Given the description of an element on the screen output the (x, y) to click on. 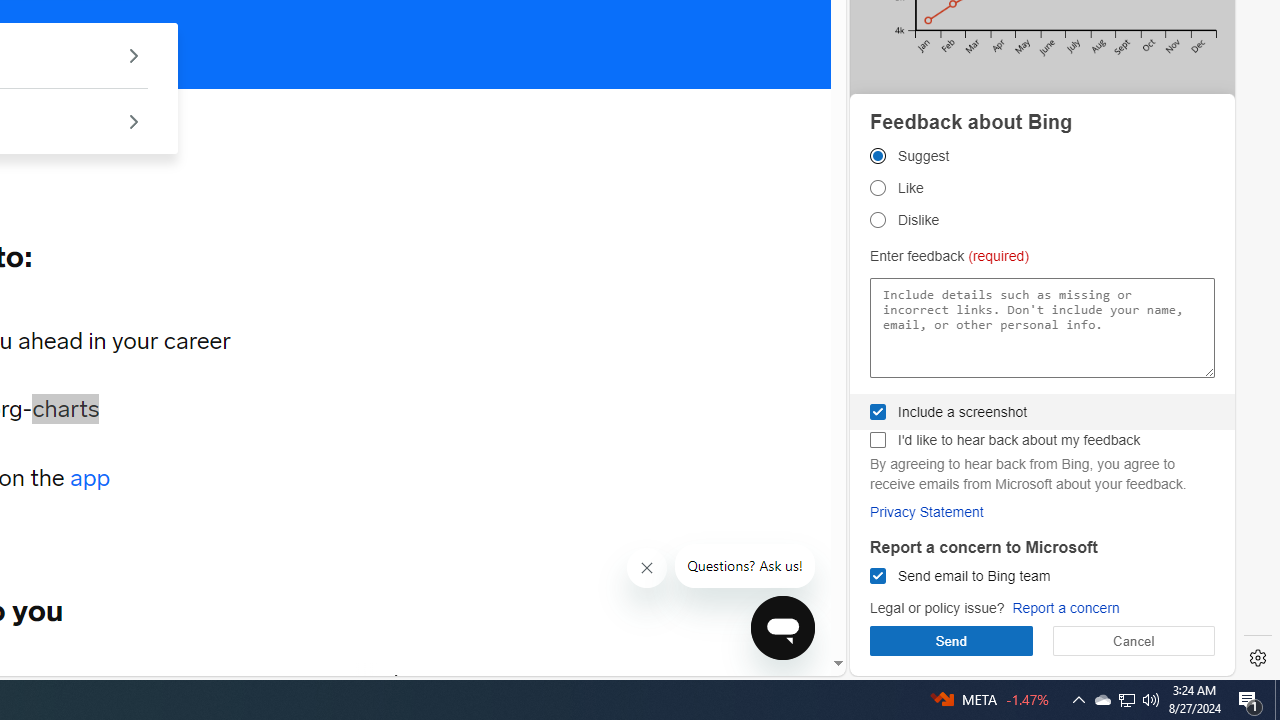
I'd like to hear back about my feedback (877, 439)
Privacy Statement (927, 511)
See group offers (133, 120)
Class: sc-1uf0igr-1 fjHZYk (646, 568)
Send email to Bing team (877, 575)
Report a concern (1066, 607)
Open messaging window (783, 628)
Questions? Ask us! (745, 566)
app (90, 477)
Include a screenshot (877, 411)
MEDIA (397, 681)
Class: sc-1k07fow-1 cbnSms (782, 627)
